Given the description of an element on the screen output the (x, y) to click on. 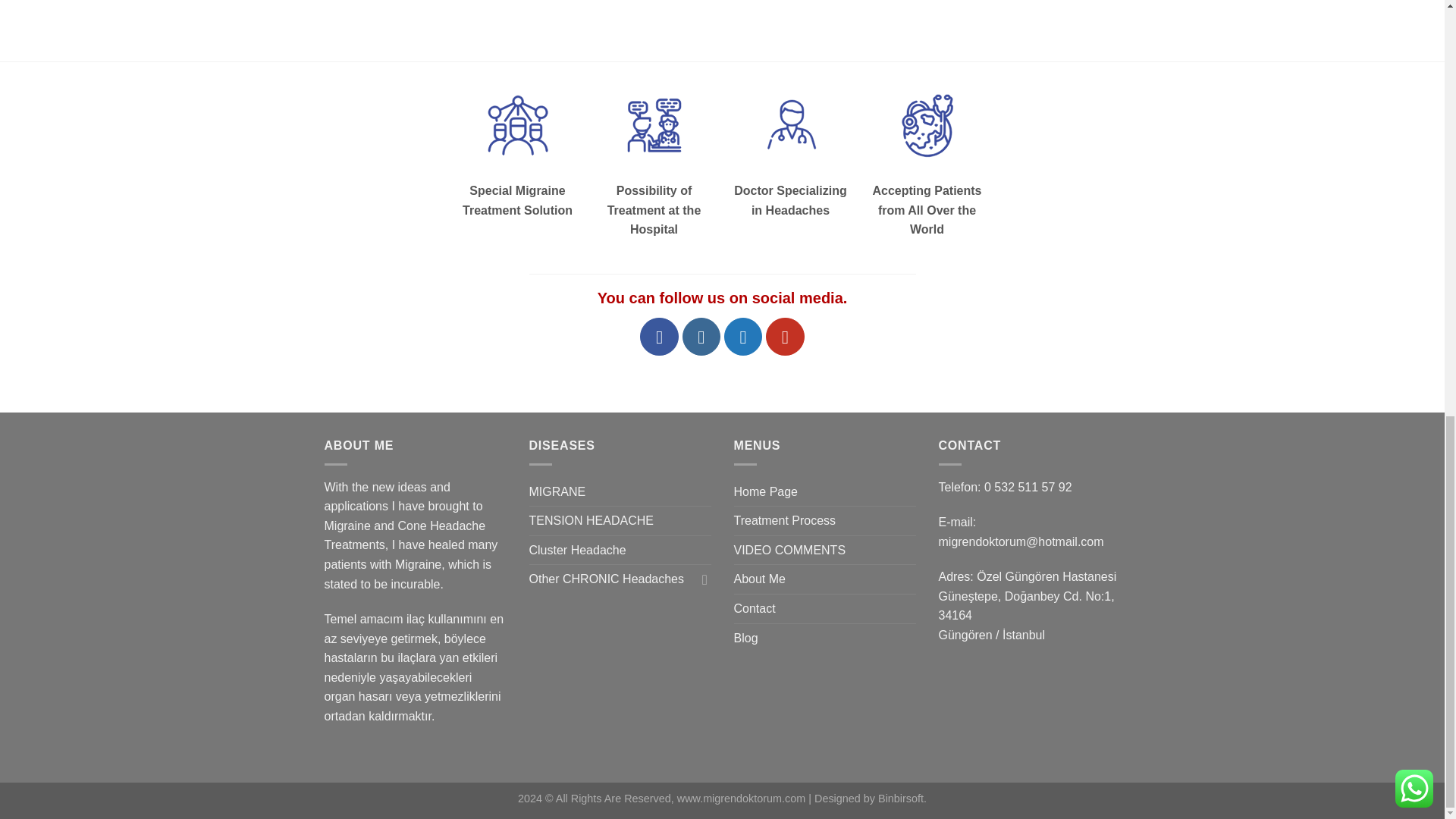
TENSION HEADACHE (591, 520)
Facebook' ta Takip Edin (659, 336)
Cluster Headache (577, 550)
Twitter' da Takip Edin (742, 336)
Youtube' ta Takip Edin (784, 336)
MIGRANE (557, 491)
Instagram' da Takip Edin (701, 336)
Other CHRONIC Headaches (612, 579)
